Given the description of an element on the screen output the (x, y) to click on. 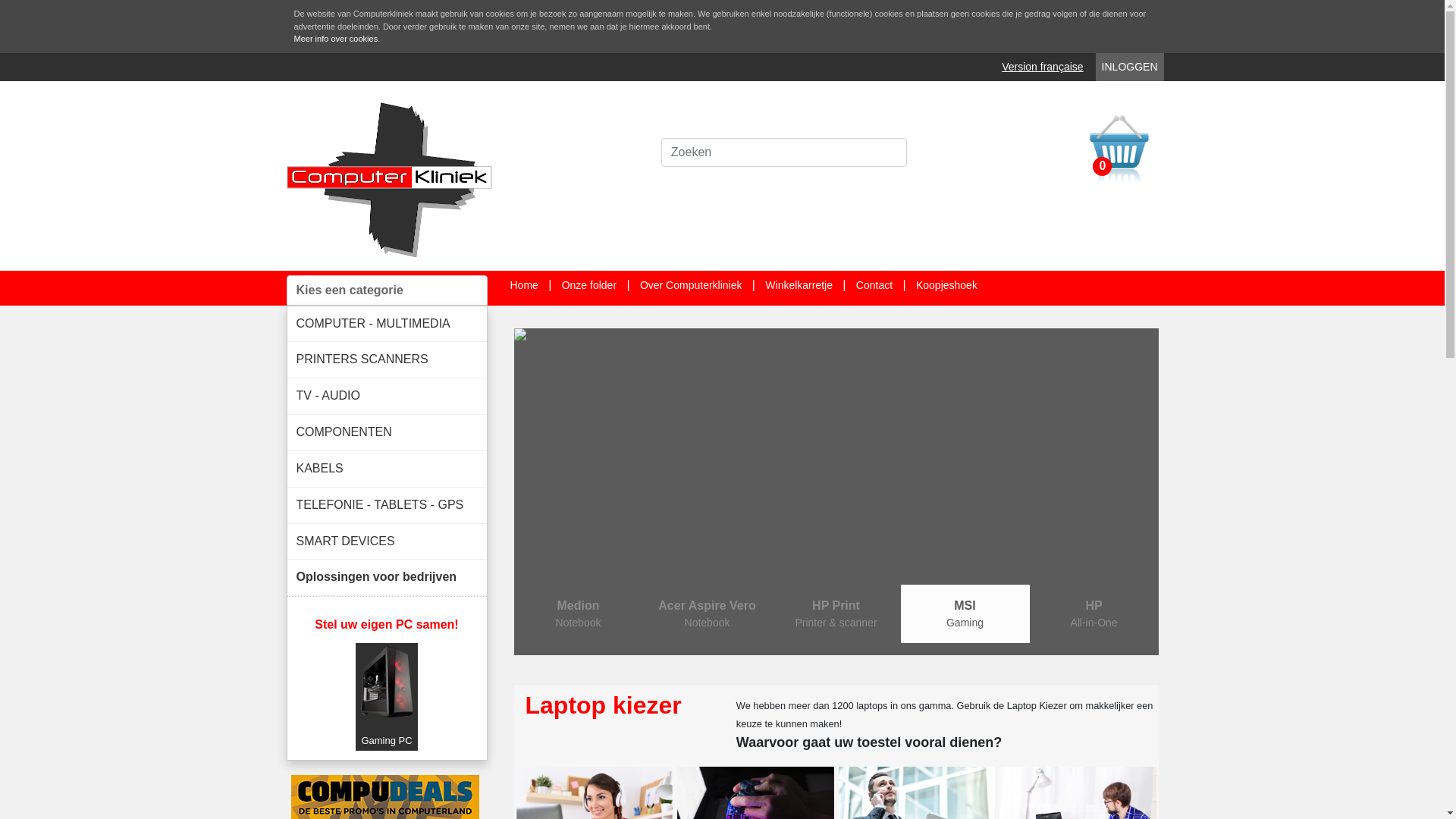
KABELS Element type: text (386, 468)
Home Element type: text (523, 285)
Meer info over cookies Element type: text (336, 38)
PRINTERS SCANNERS Element type: text (386, 359)
Oplossingen voor bedrijven Element type: text (386, 577)
SMART DEVICES Element type: text (386, 541)
Koopjeshoek Element type: text (946, 285)
TV - AUDIO Element type: text (386, 396)
Contact Element type: text (874, 285)
Over Computerkliniek Element type: text (691, 285)
Onze folder Element type: text (588, 285)
Winkelkarretje Element type: text (798, 285)
Kies een categorie Element type: text (386, 289)
COMPONENTEN Element type: text (386, 432)
TELEFONIE - TABLETS - GPS Element type: text (386, 505)
COMPUTER - MULTIMEDIA Element type: text (386, 324)
Gaming PC Element type: text (386, 696)
